Given the description of an element on the screen output the (x, y) to click on. 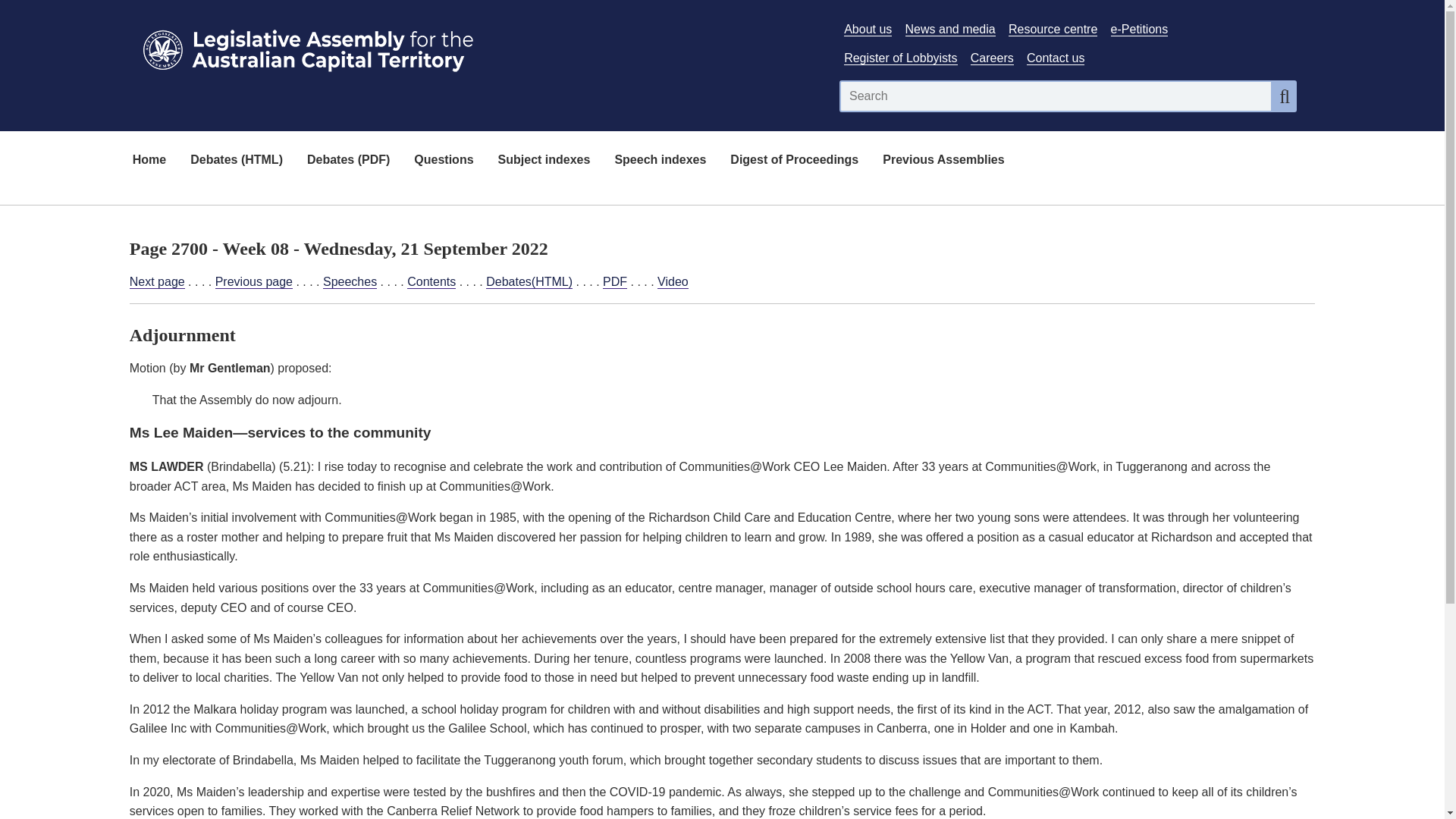
About us (867, 29)
Contents (431, 282)
Link to e-Petitions (1139, 29)
Home (148, 160)
Questions (442, 160)
Link to Contact Us (1055, 58)
Next page (156, 282)
News and media (950, 29)
PDF (614, 282)
Search input field (1056, 96)
e-Petitions (1139, 29)
Digest of Proceedings (793, 160)
Register of Lobbyists (900, 58)
Careers (992, 58)
Link to About Us (867, 29)
